Given the description of an element on the screen output the (x, y) to click on. 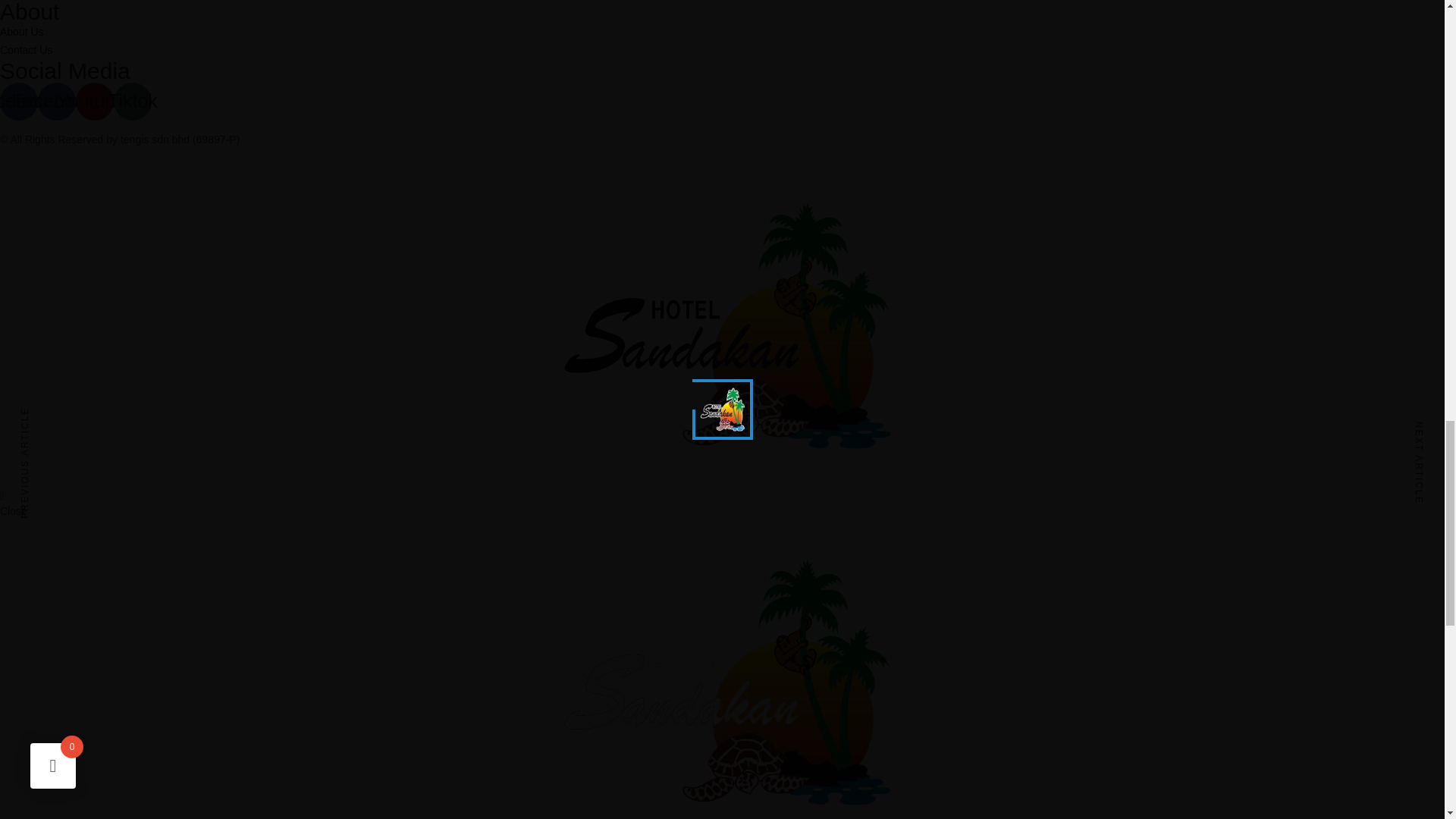
Facebook (18, 101)
Facebook (56, 101)
Tiktok (132, 101)
Youtube (94, 101)
Close (13, 510)
